Given the description of an element on the screen output the (x, y) to click on. 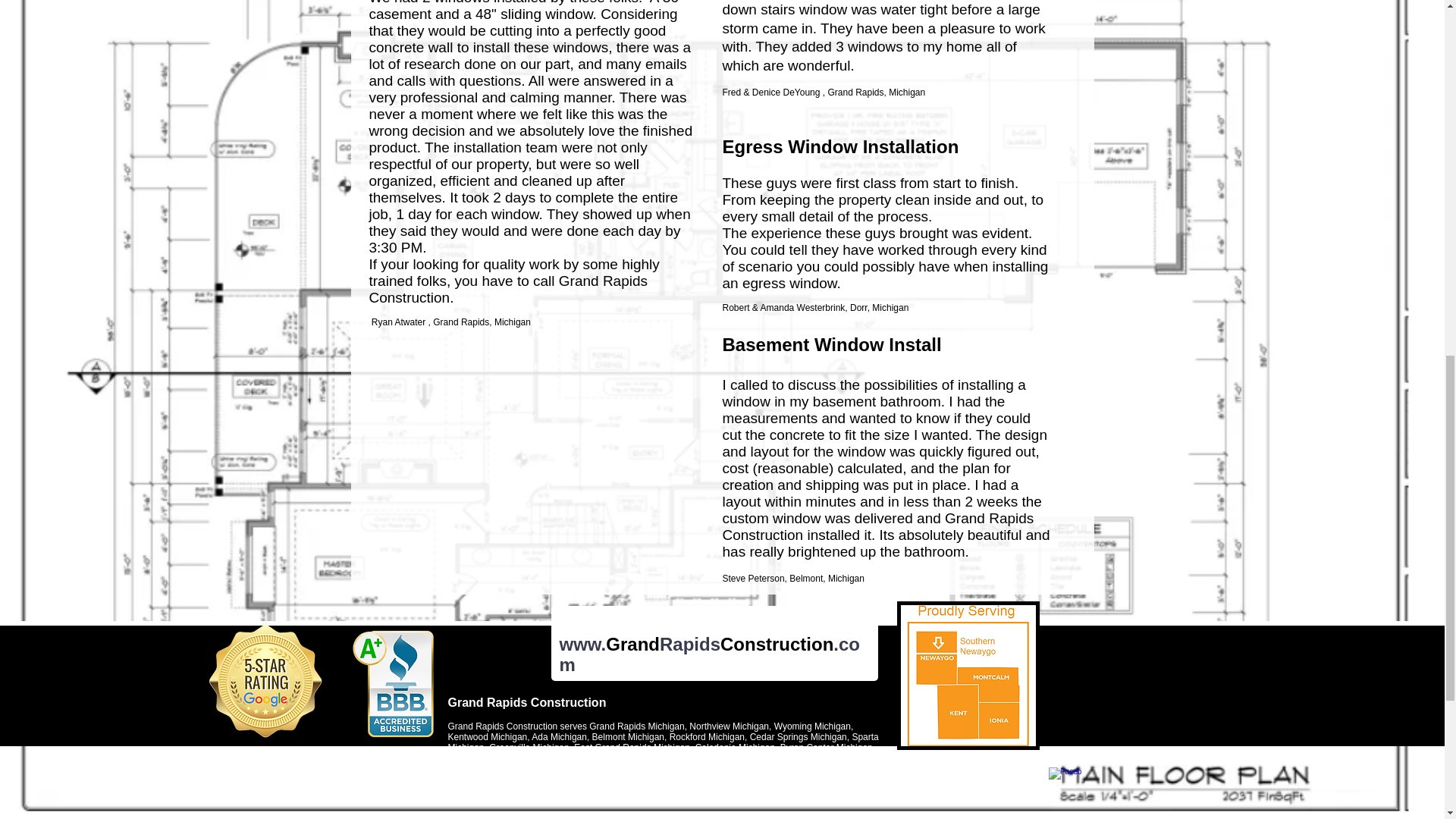
www.GrandRapidsConstruction.com (709, 663)
